Given the description of an element on the screen output the (x, y) to click on. 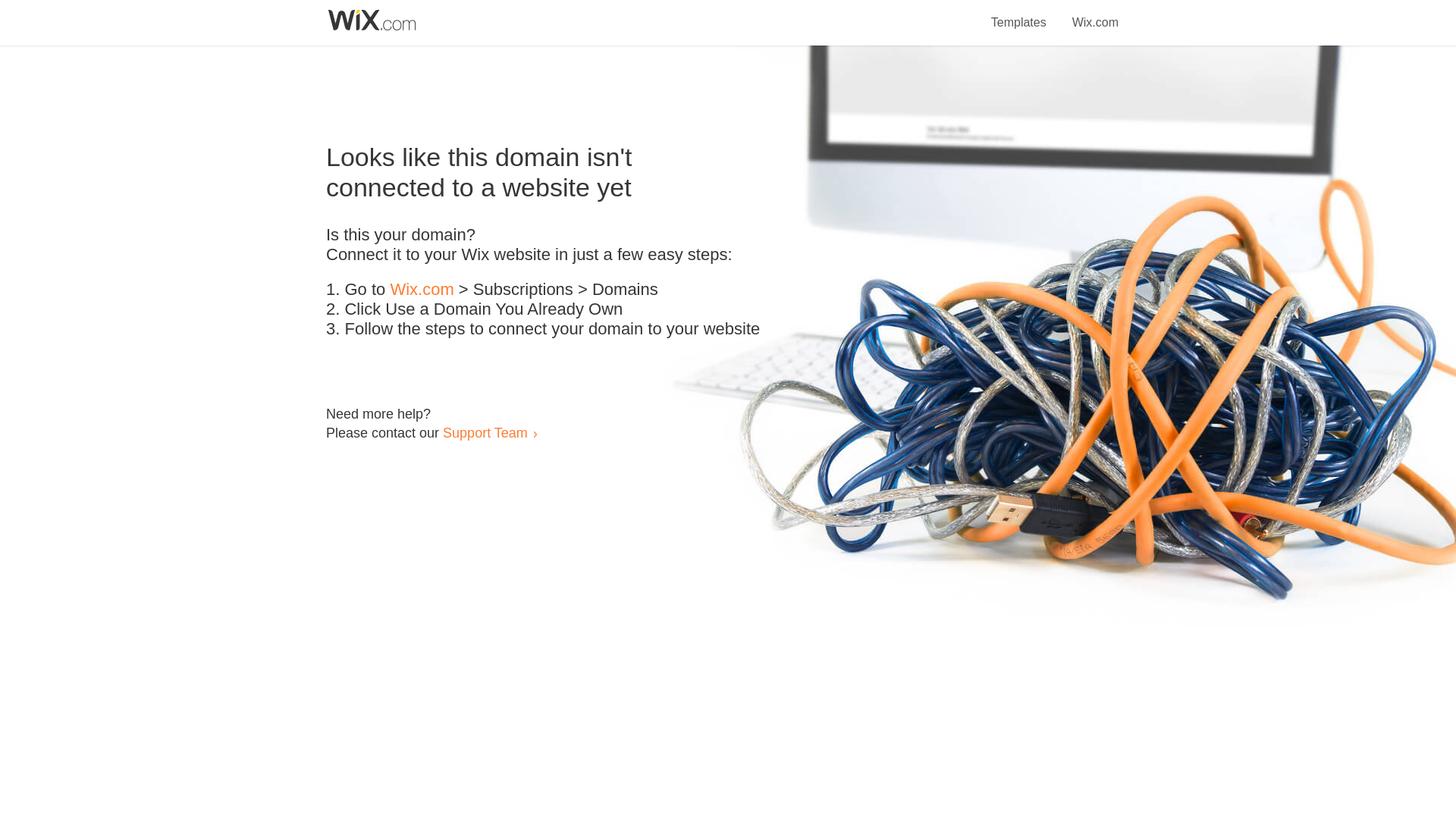
Wix.com (421, 289)
Wix.com (1095, 14)
Templates (1018, 14)
Support Team (484, 432)
